Given the description of an element on the screen output the (x, y) to click on. 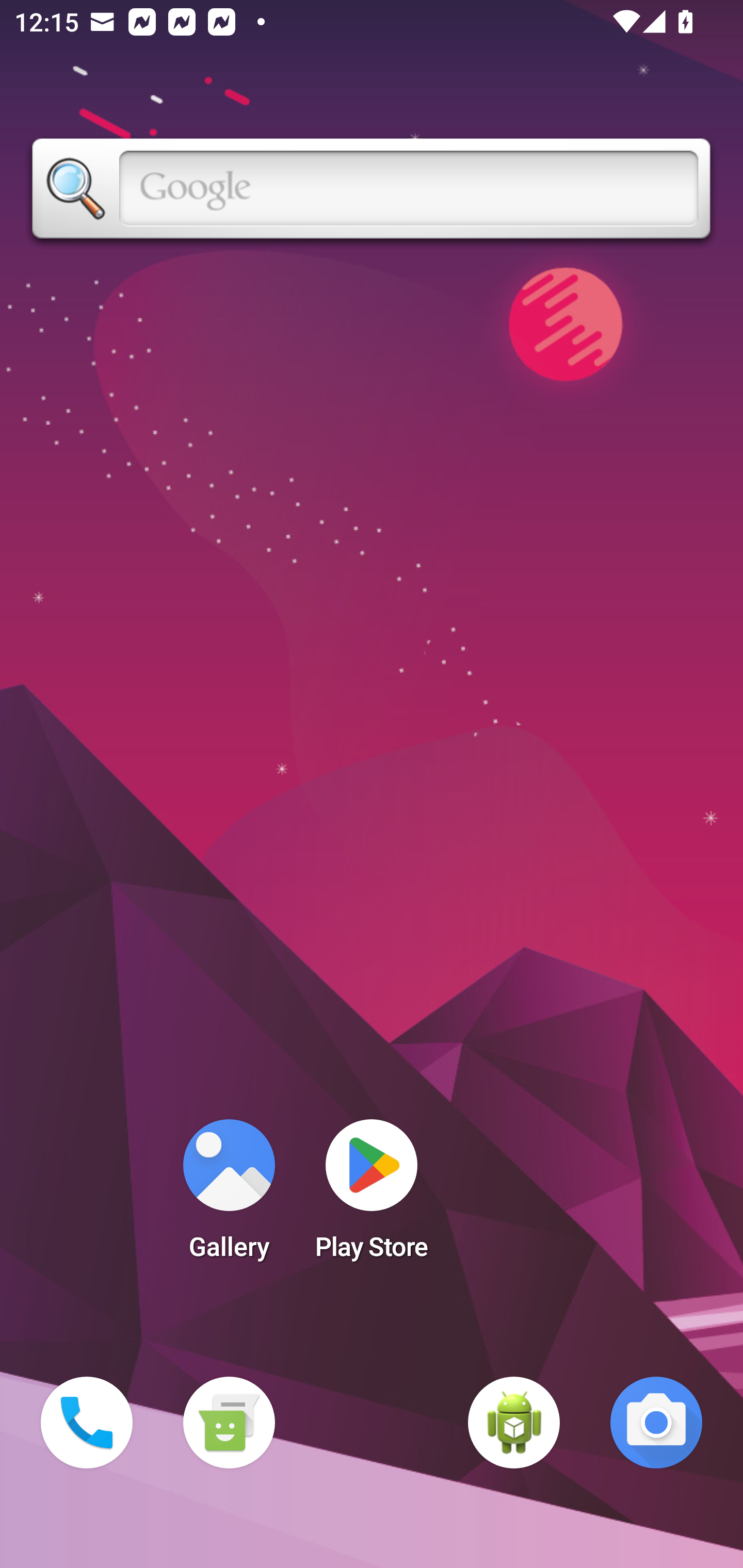
Gallery (228, 1195)
Play Store (371, 1195)
Phone (86, 1422)
Messaging (228, 1422)
WebView Browser Tester (513, 1422)
Camera (656, 1422)
